Given the description of an element on the screen output the (x, y) to click on. 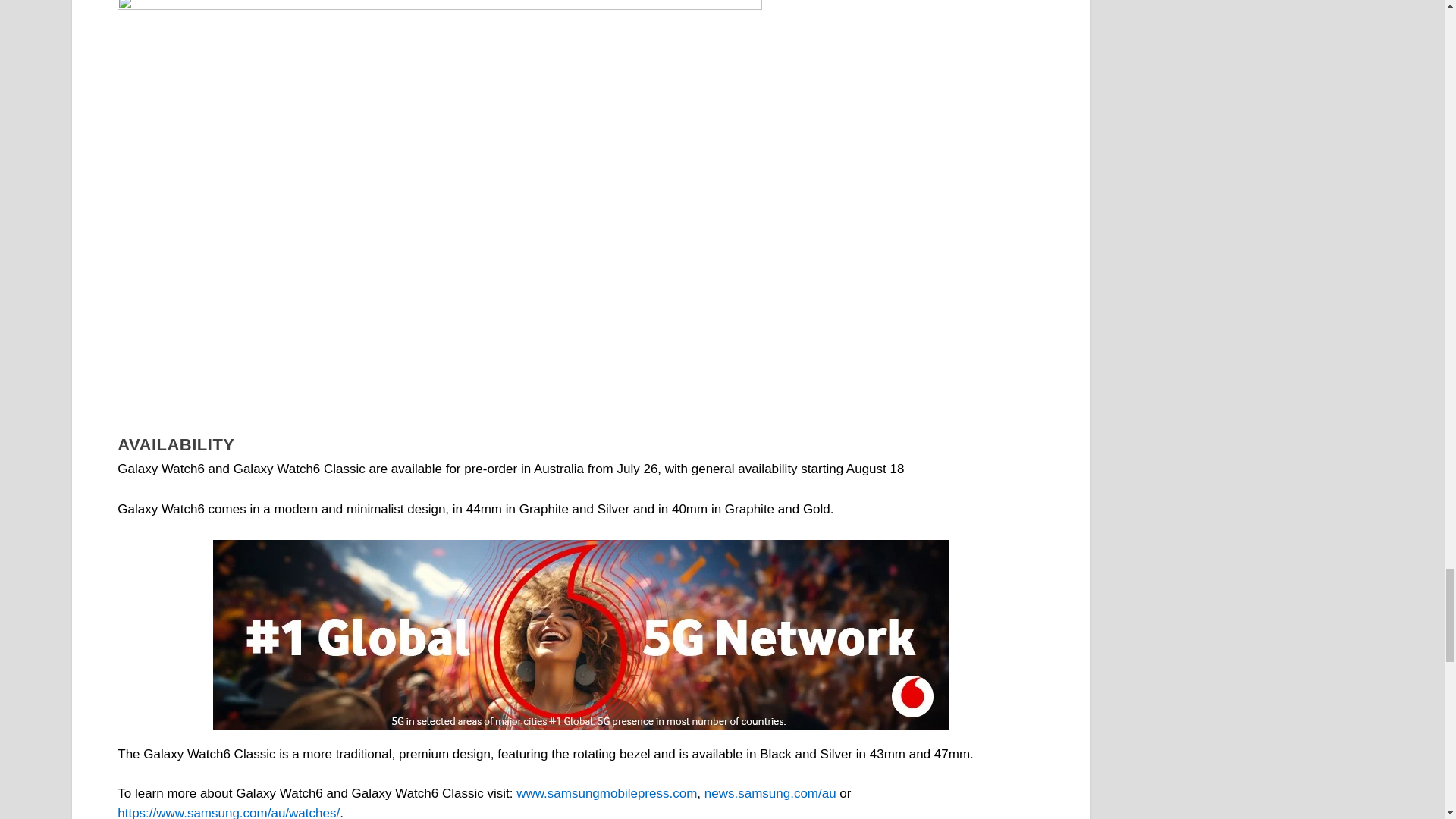
www.samsungmobilepress.com (606, 793)
